Given the description of an element on the screen output the (x, y) to click on. 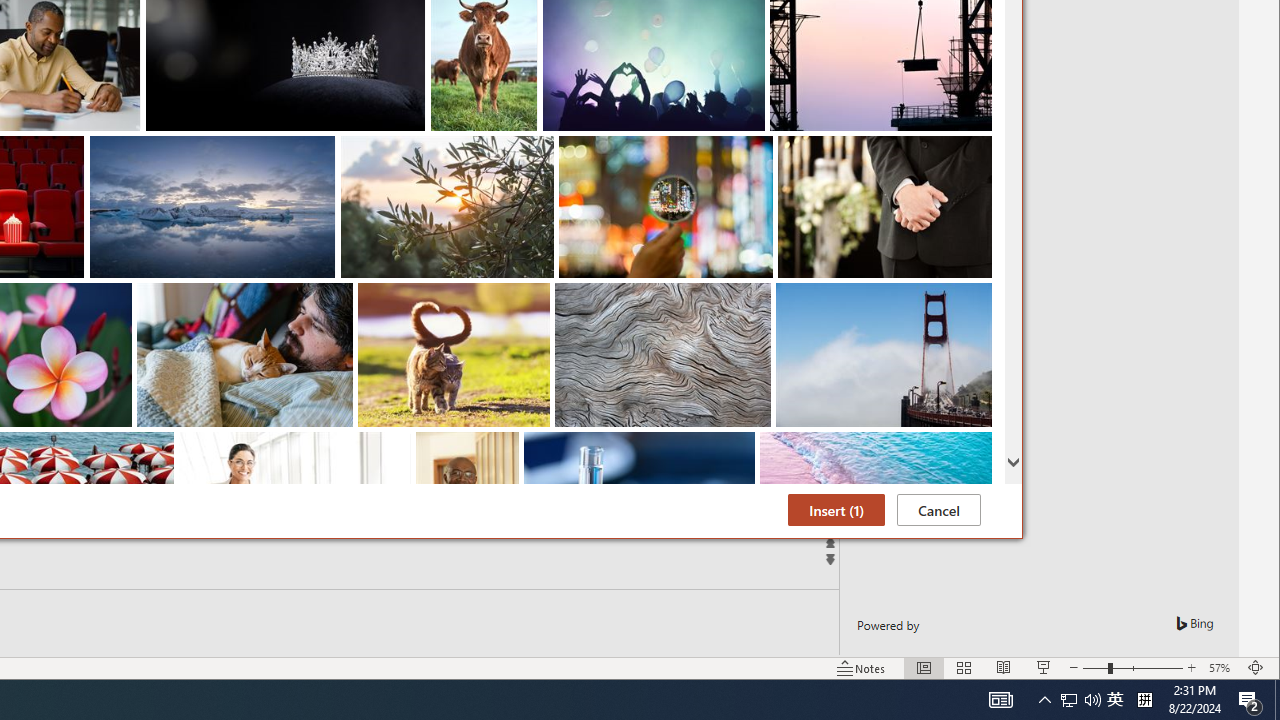
Insert (1) (836, 509)
Zoom 57% (1222, 668)
Thumbnail (977, 447)
